Given the description of an element on the screen output the (x, y) to click on. 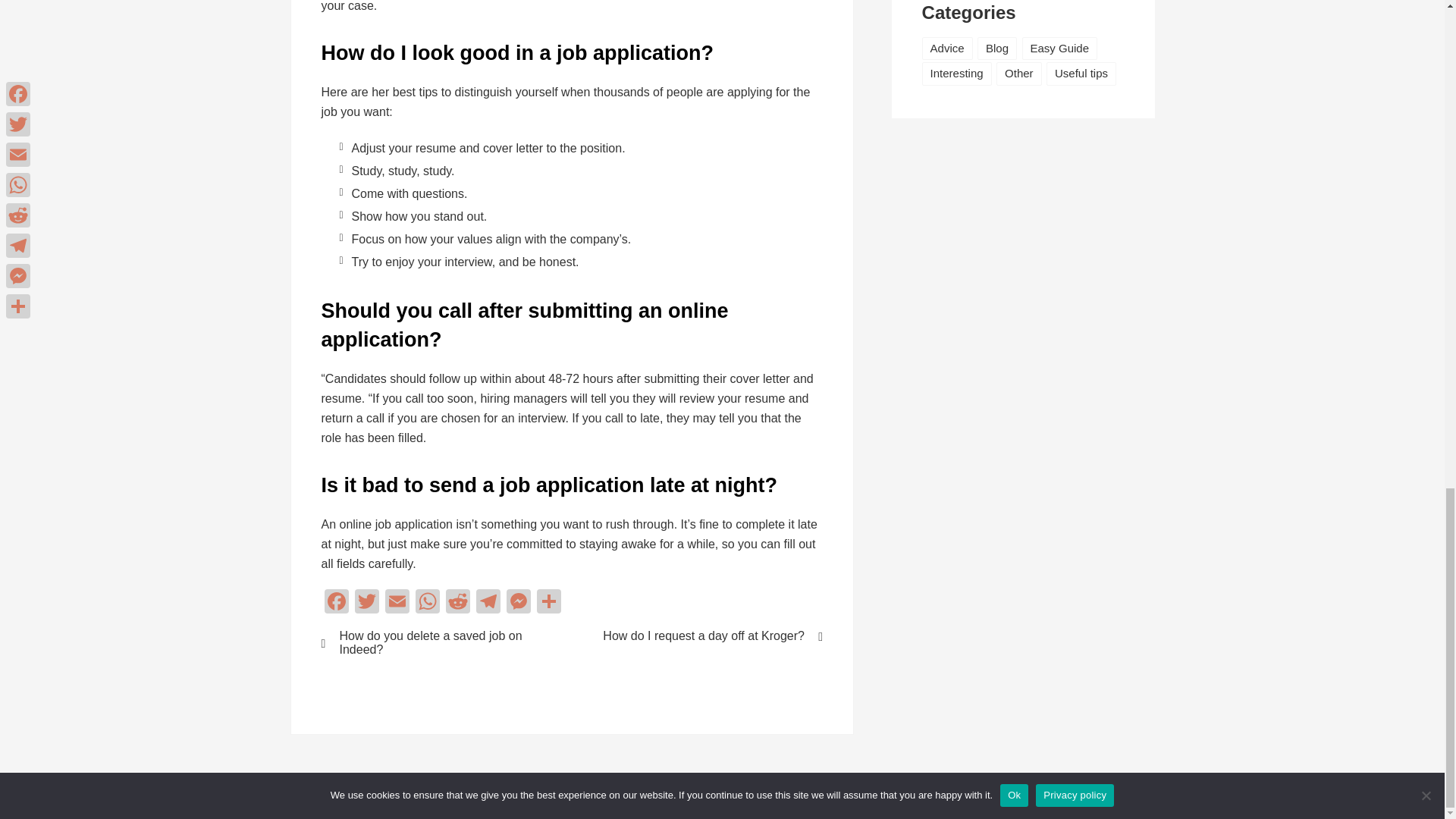
Twitter (366, 602)
How do you delete a saved job on Indeed? (436, 642)
Reddit (457, 602)
Telegram (488, 602)
Facebook (336, 602)
Reddit (457, 602)
Messenger (518, 602)
Share (549, 602)
BasePress - The best free WordPress blog theme for WordPress (736, 796)
How do I request a day off at Kroger? (707, 635)
Telegram (488, 602)
Facebook (336, 602)
Messenger (518, 602)
WhatsApp (427, 602)
Twitter (366, 602)
